Given the description of an element on the screen output the (x, y) to click on. 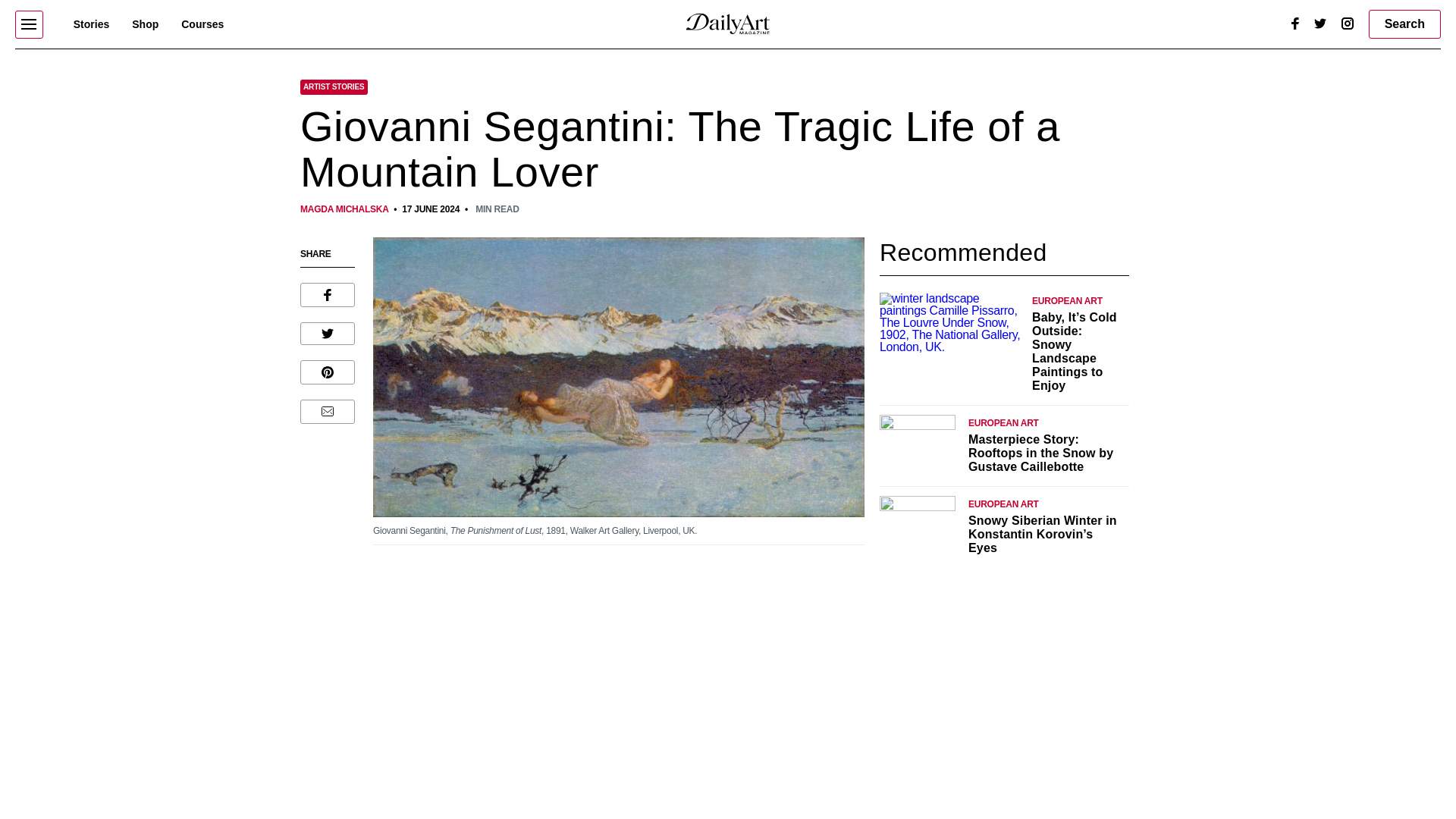
Shop (145, 24)
Courses (202, 24)
Search (1404, 23)
Stories (91, 24)
Tweet This Post (327, 333)
Pin This Post (327, 372)
